Given the description of an element on the screen output the (x, y) to click on. 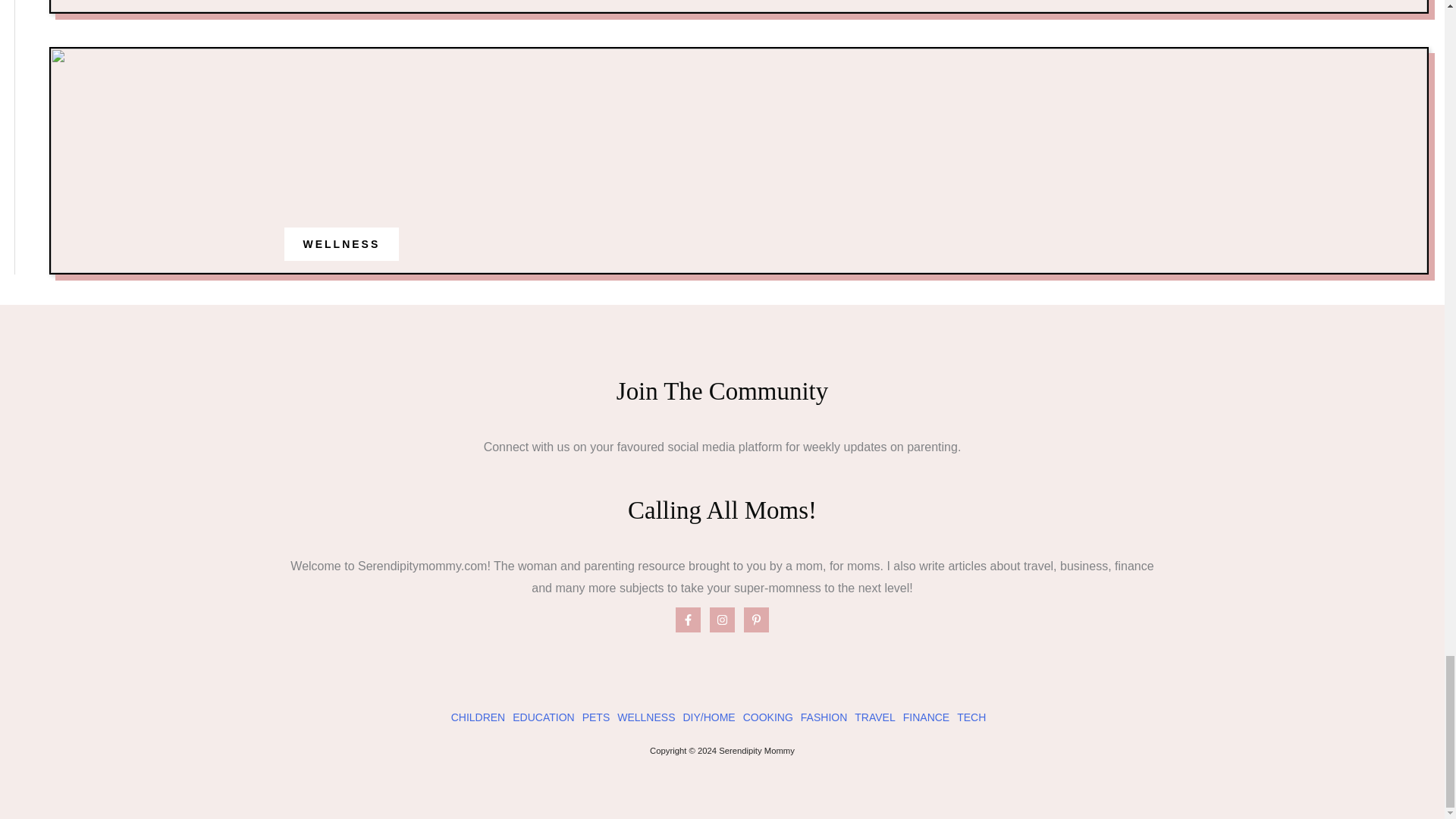
COOKING (767, 717)
TRAVEL (874, 717)
WELLNESS (341, 243)
EDUCATION (542, 717)
PETS (596, 717)
WELLNESS (646, 717)
CHILDREN (478, 717)
FASHION (823, 717)
